Given the description of an element on the screen output the (x, y) to click on. 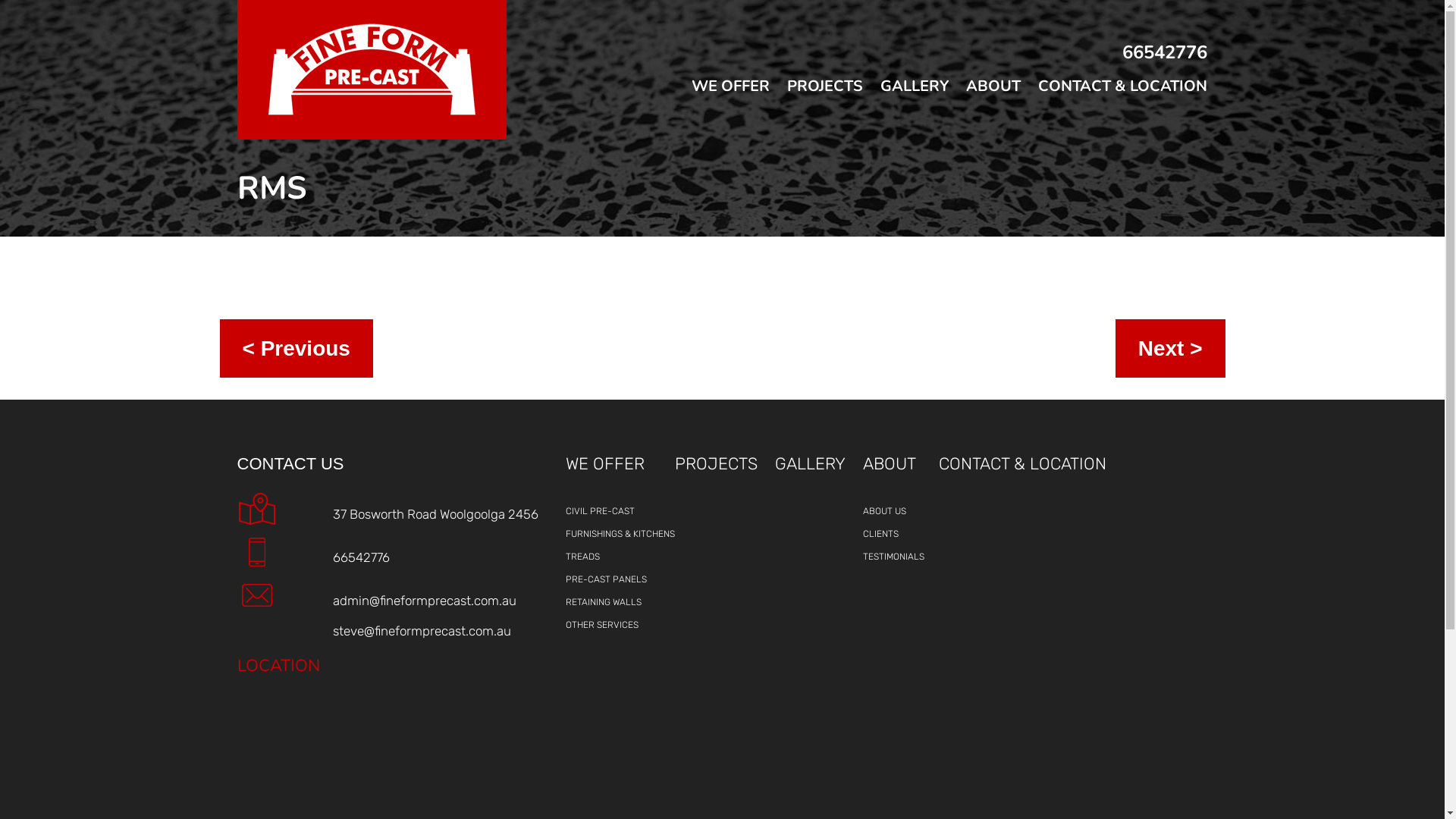
RETAINING WALLS Element type: text (619, 602)
Next > Element type: text (1170, 348)
TREADS Element type: text (619, 556)
ABOUT Element type: text (900, 470)
GALLERY Element type: text (818, 470)
WE OFFER Element type: text (721, 97)
CONTACT & LOCATION Element type: text (1113, 97)
PROJECTS Element type: text (815, 97)
PRE-CAST PANELS Element type: text (619, 579)
CIVIL PRE-CAST Element type: text (619, 511)
GALLERY Element type: text (905, 97)
OTHER SERVICES Element type: text (619, 625)
ABOUT Element type: text (984, 97)
TESTIMONIALS Element type: text (900, 556)
< Previous Element type: text (296, 348)
FURNISHINGS & KITCHENS Element type: text (619, 534)
WE OFFER Element type: text (619, 470)
PROJECTS Element type: text (724, 470)
Fine Form Pre-cast Element type: hover (371, 69)
CONTACT & LOCATION Element type: text (1030, 470)
ABOUT US Element type: text (900, 511)
CLIENTS Element type: text (900, 534)
